Given the description of an element on the screen output the (x, y) to click on. 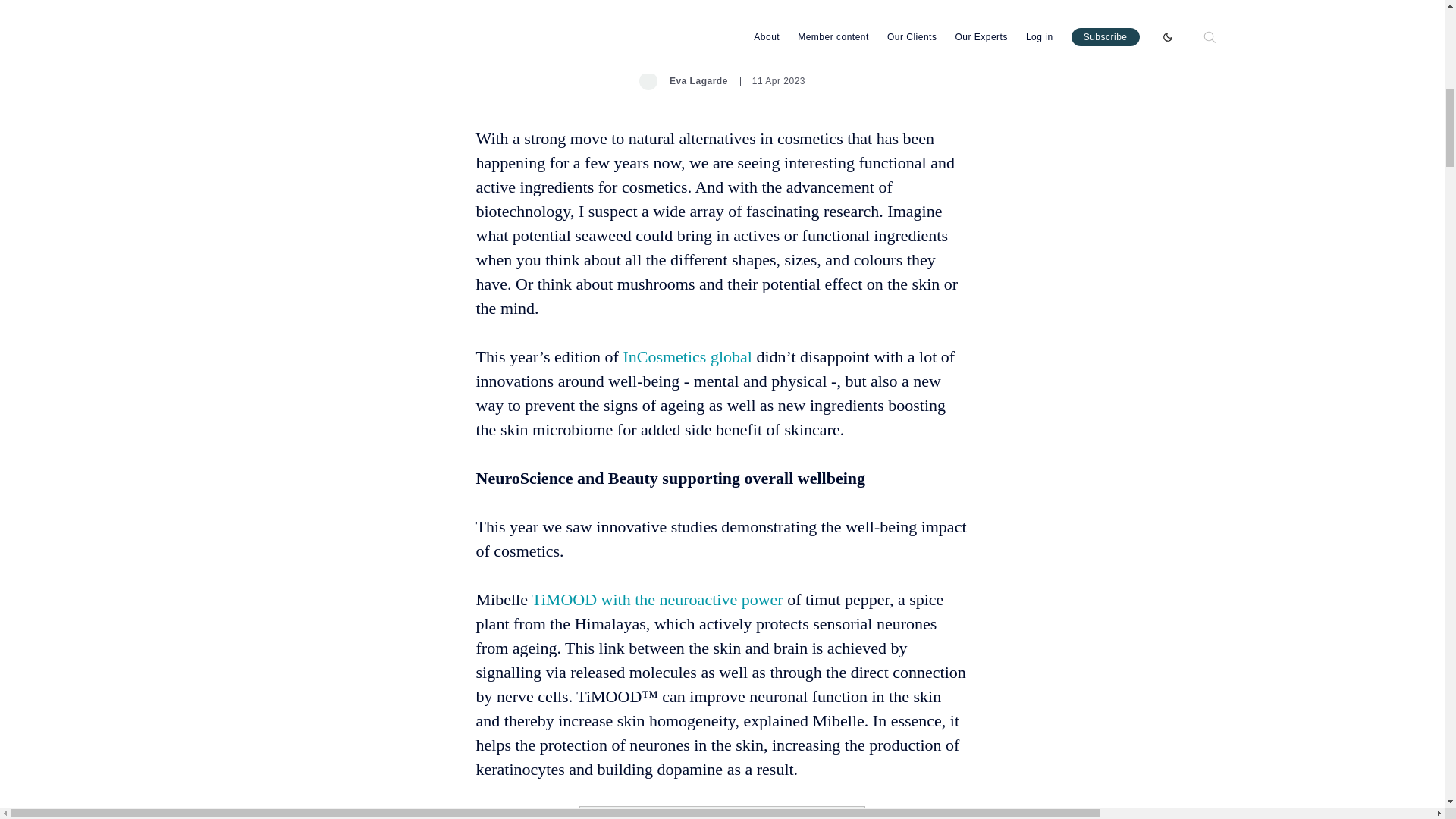
Eva Lagarde (683, 80)
InCosmetics global (689, 356)
TiMOOD with the neuroactive power (657, 599)
